Given the description of an element on the screen output the (x, y) to click on. 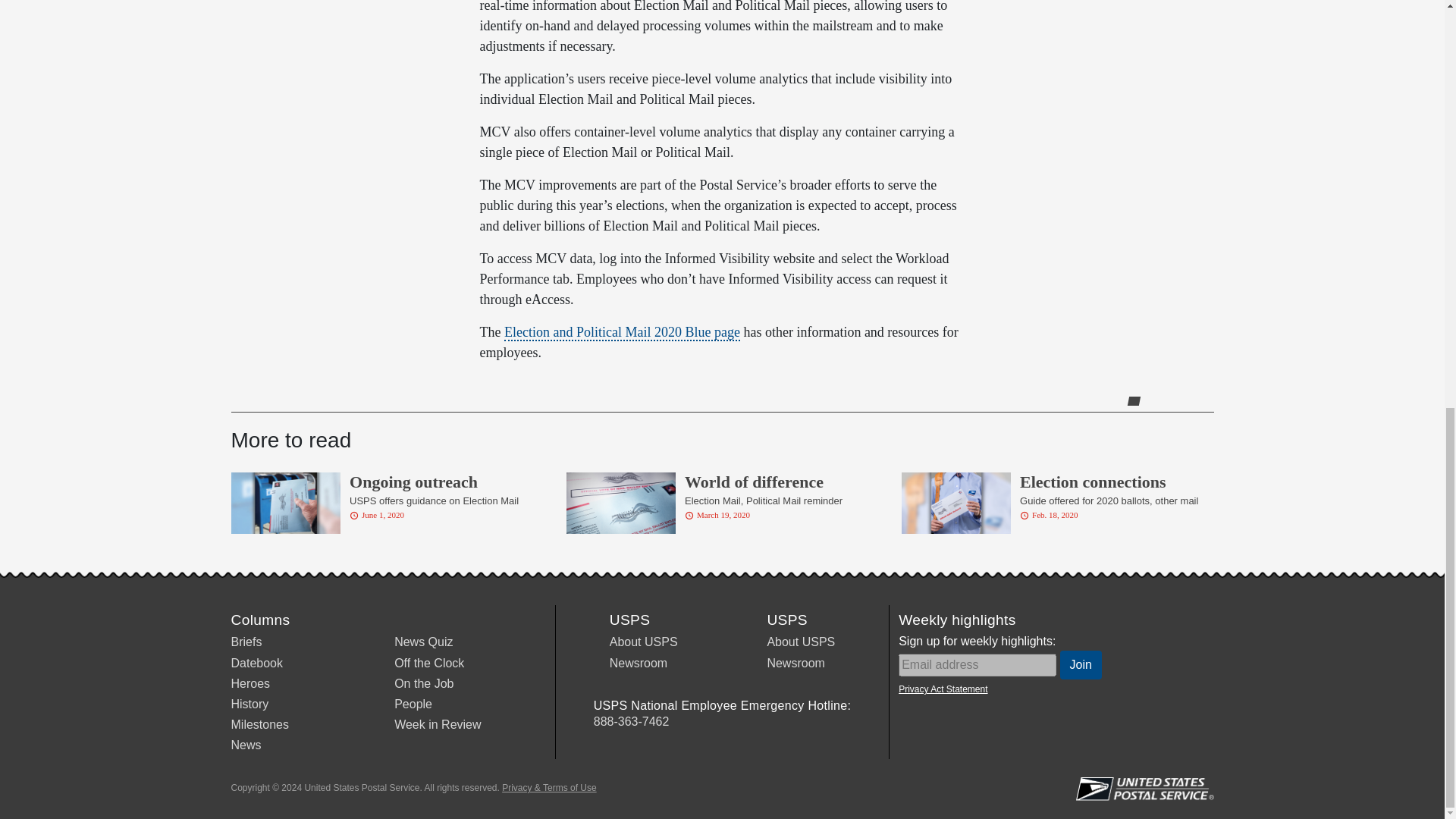
News Quiz (423, 641)
Milestones (259, 724)
Newsroom (638, 662)
On the Job (423, 683)
History (248, 703)
Election and Political Mail 2020 Blue page (621, 332)
Datebook (256, 662)
Week in Review (437, 724)
Heroes (249, 683)
Off the Clock (429, 662)
People (413, 703)
Join (1080, 664)
About USPS (644, 641)
